Given the description of an element on the screen output the (x, y) to click on. 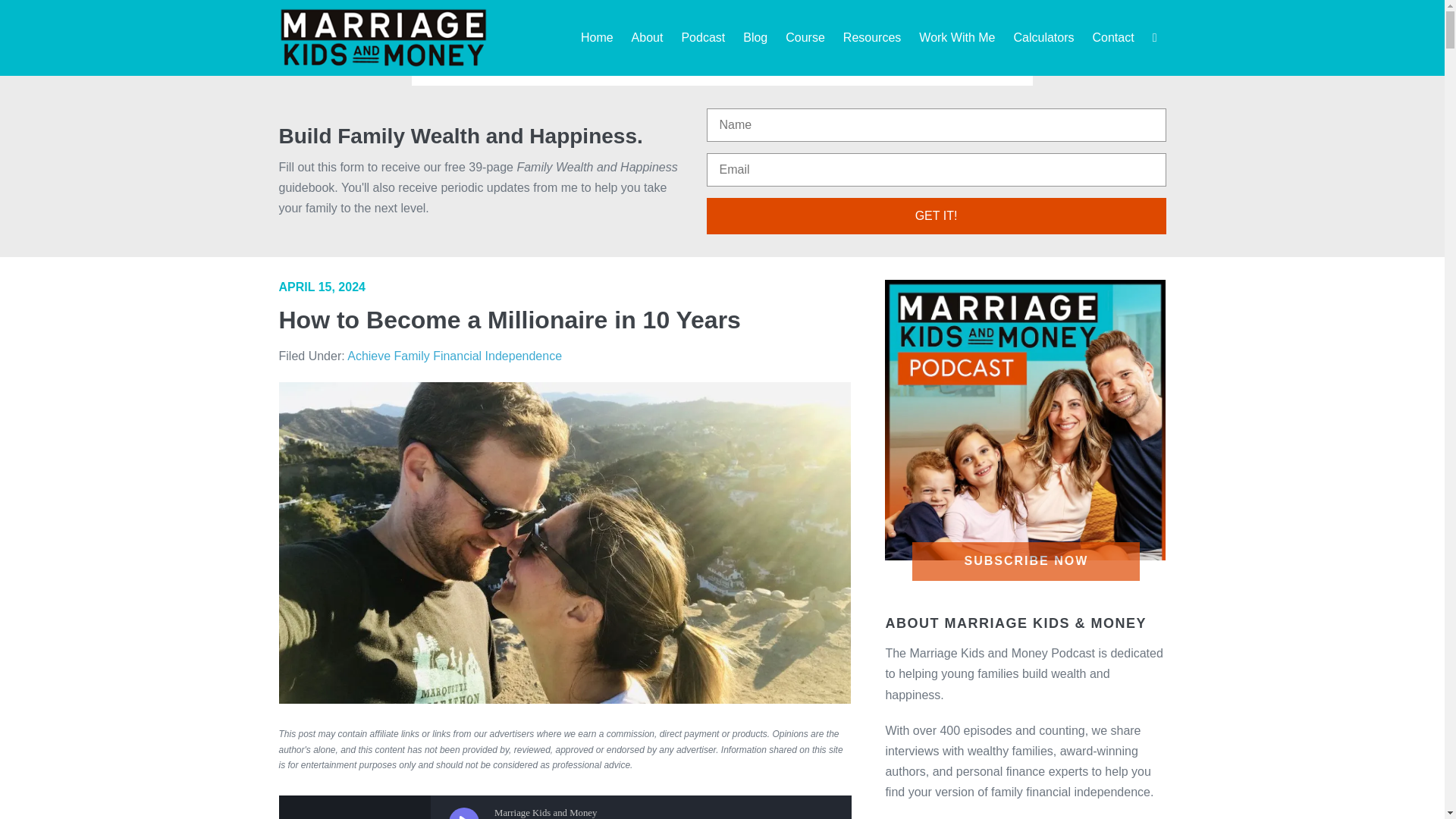
Contact (1113, 37)
Blog (755, 37)
Work With Me (957, 37)
Home (596, 37)
Podcast (702, 37)
Calculators (1042, 37)
Resources (871, 37)
Course (804, 37)
logo (383, 37)
